Given the description of an element on the screen output the (x, y) to click on. 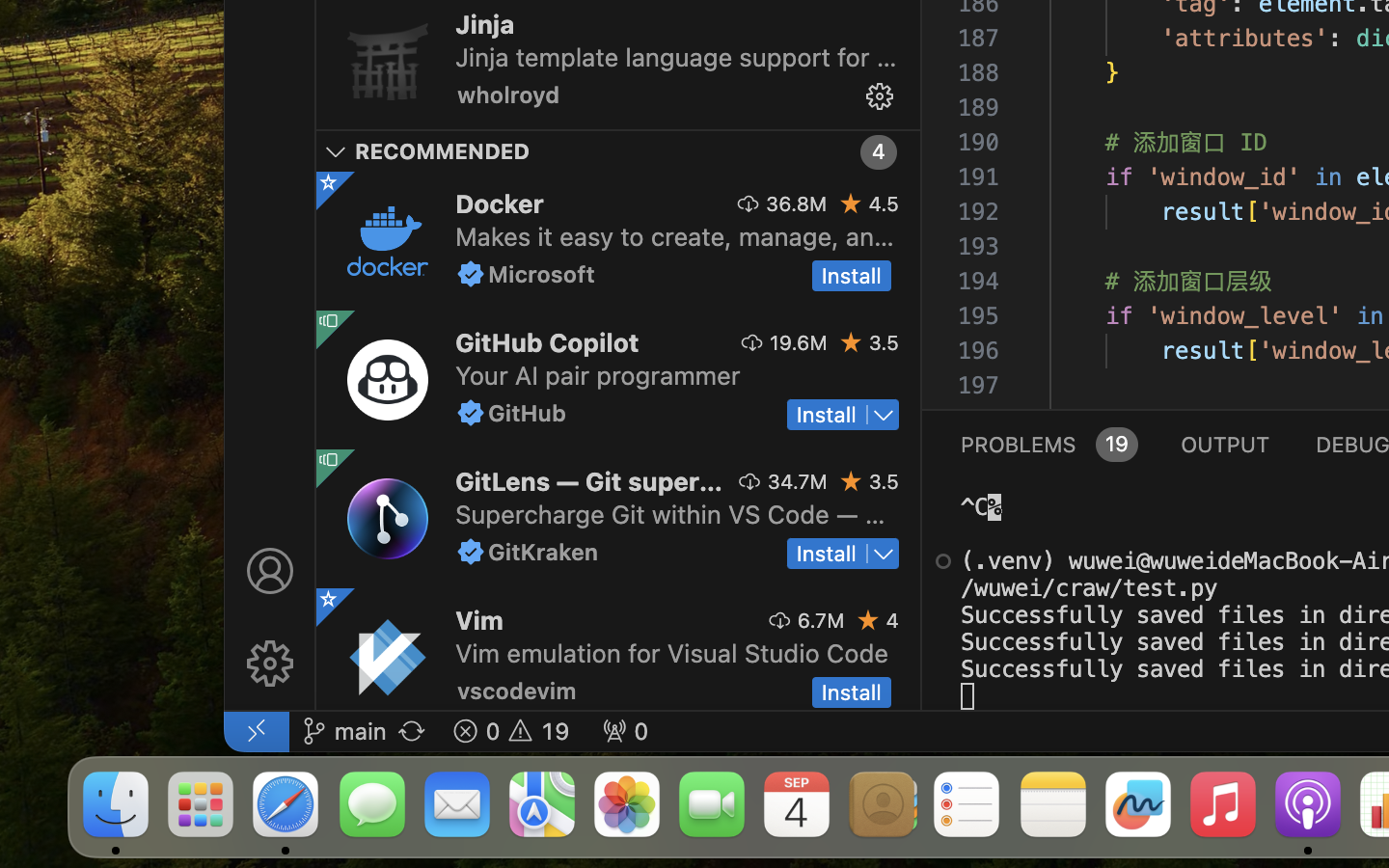
19.6M Element type: AXStaticText (798, 341)
wholroyd Element type: AXStaticText (509, 94)
main  Element type: AXButton (344, 730)
GitHub Element type: AXStaticText (527, 412)
GitHub Copilot Element type: AXStaticText (547, 341)
